Given the description of an element on the screen output the (x, y) to click on. 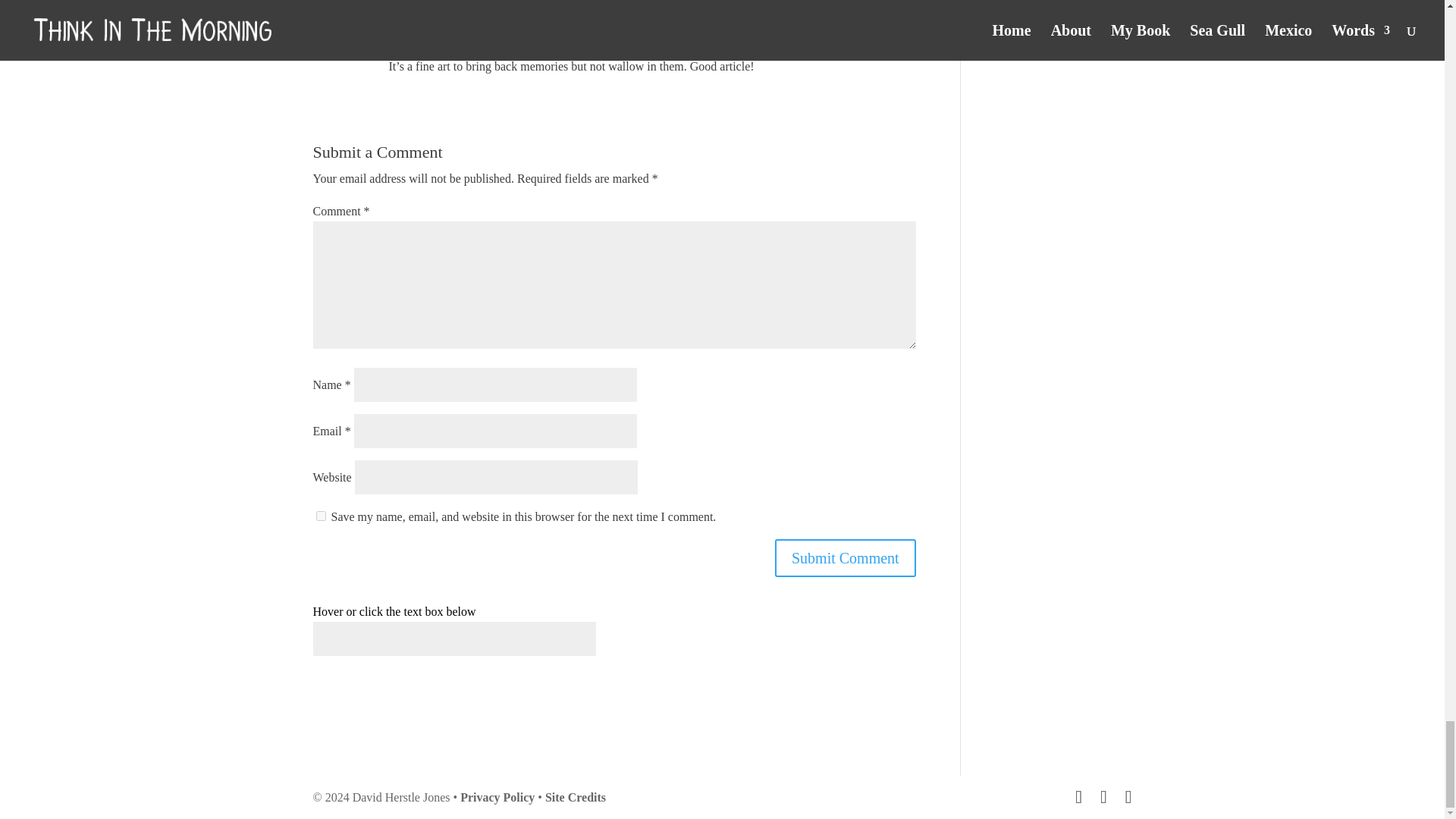
Reply (900, 44)
yes (319, 515)
Submit Comment (844, 557)
Submit Comment (844, 557)
